Given the description of an element on the screen output the (x, y) to click on. 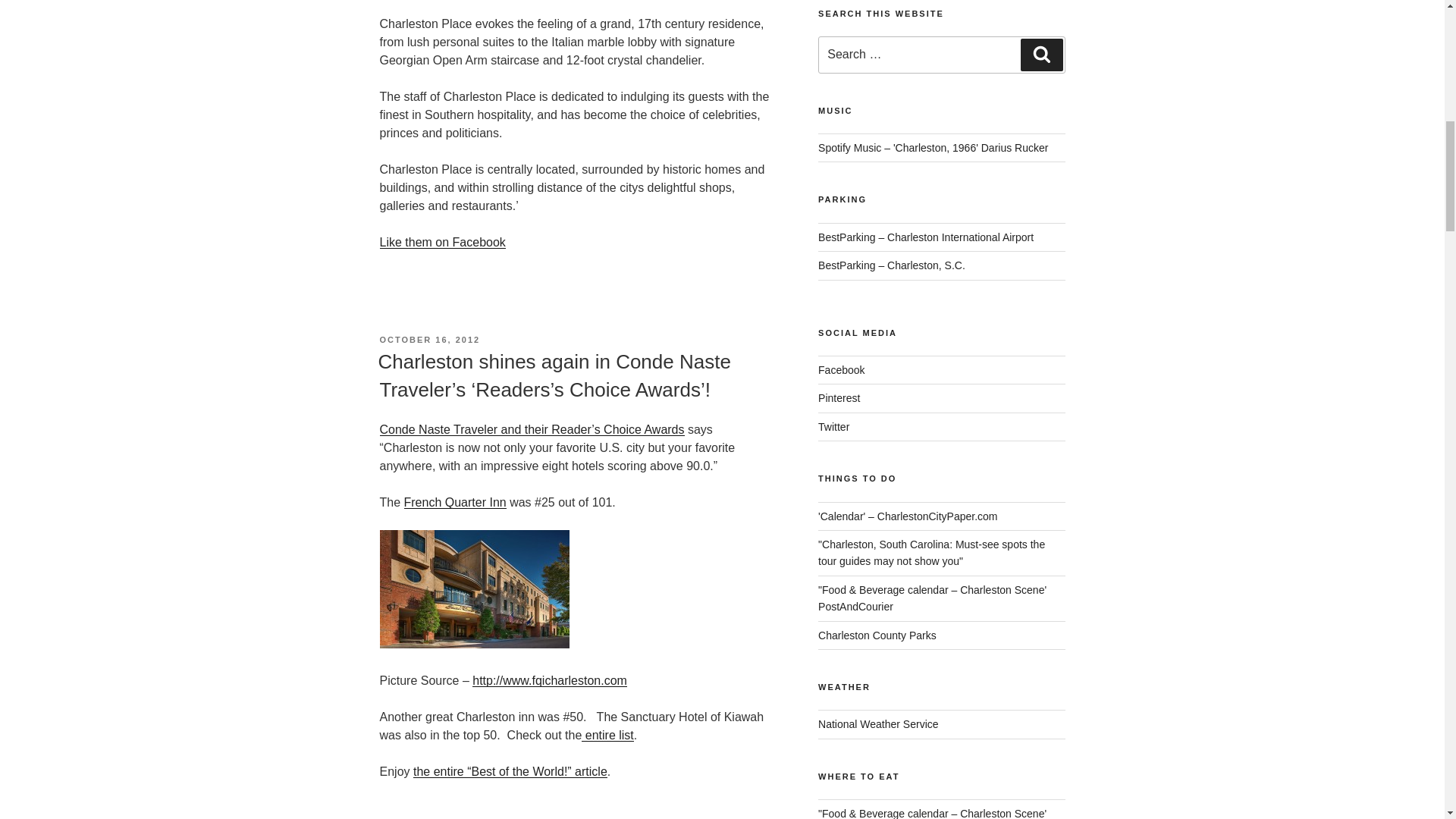
French Quarter Inn (455, 502)
French Quarter Inn, Charleston, S.C. (455, 502)
French Quarter Charleston, Charleston, S.C. (549, 680)
OCTOBER 16, 2012 (429, 338)
Conde Naste Traveler's Readers Choice Award (510, 771)
Like them on Facebook (441, 241)
Conde Naste Traveler's Reader's Choice Award (531, 429)
entire list (606, 735)
